Given the description of an element on the screen output the (x, y) to click on. 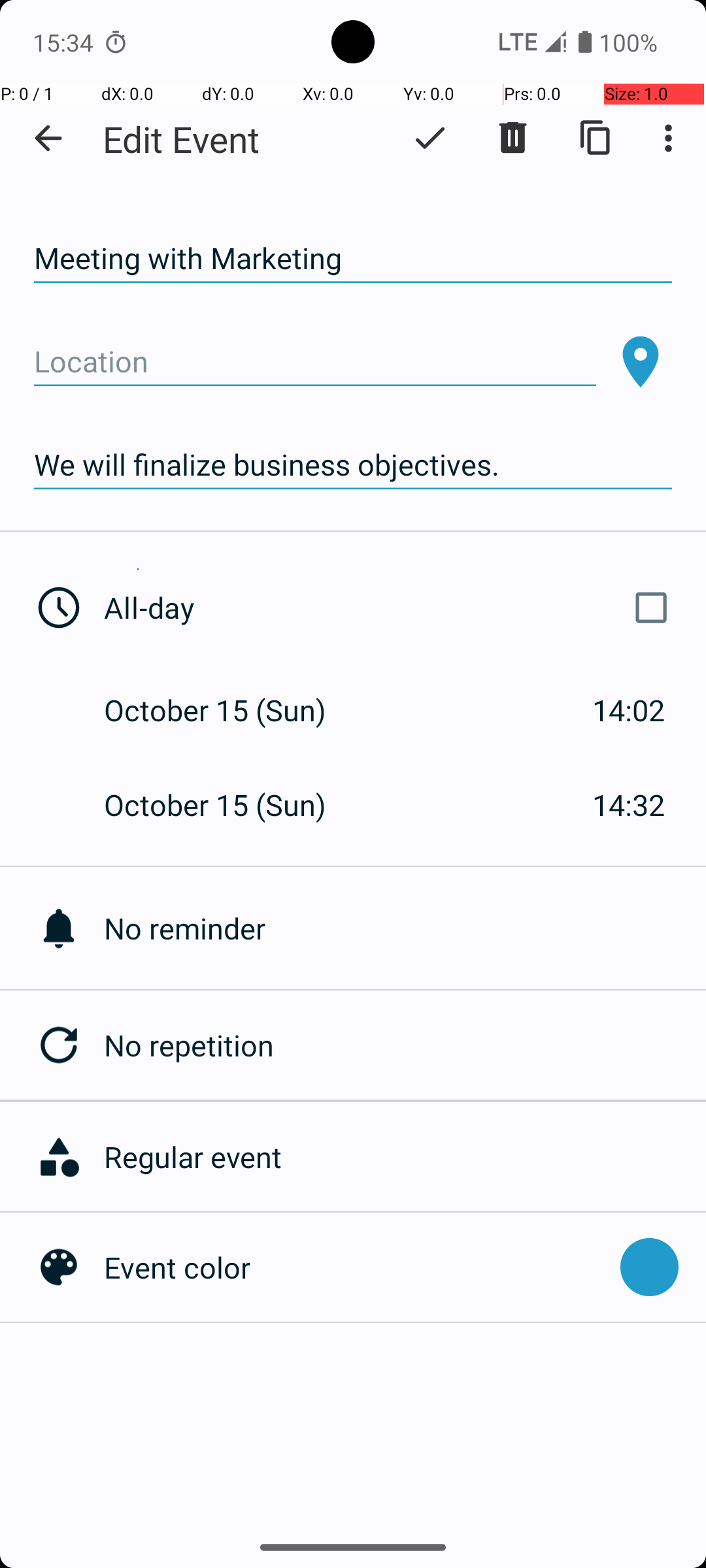
We will finalize business objectives. Element type: android.widget.EditText (352, 465)
14:02 Element type: android.widget.TextView (628, 709)
14:32 Element type: android.widget.TextView (628, 804)
